Given the description of an element on the screen output the (x, y) to click on. 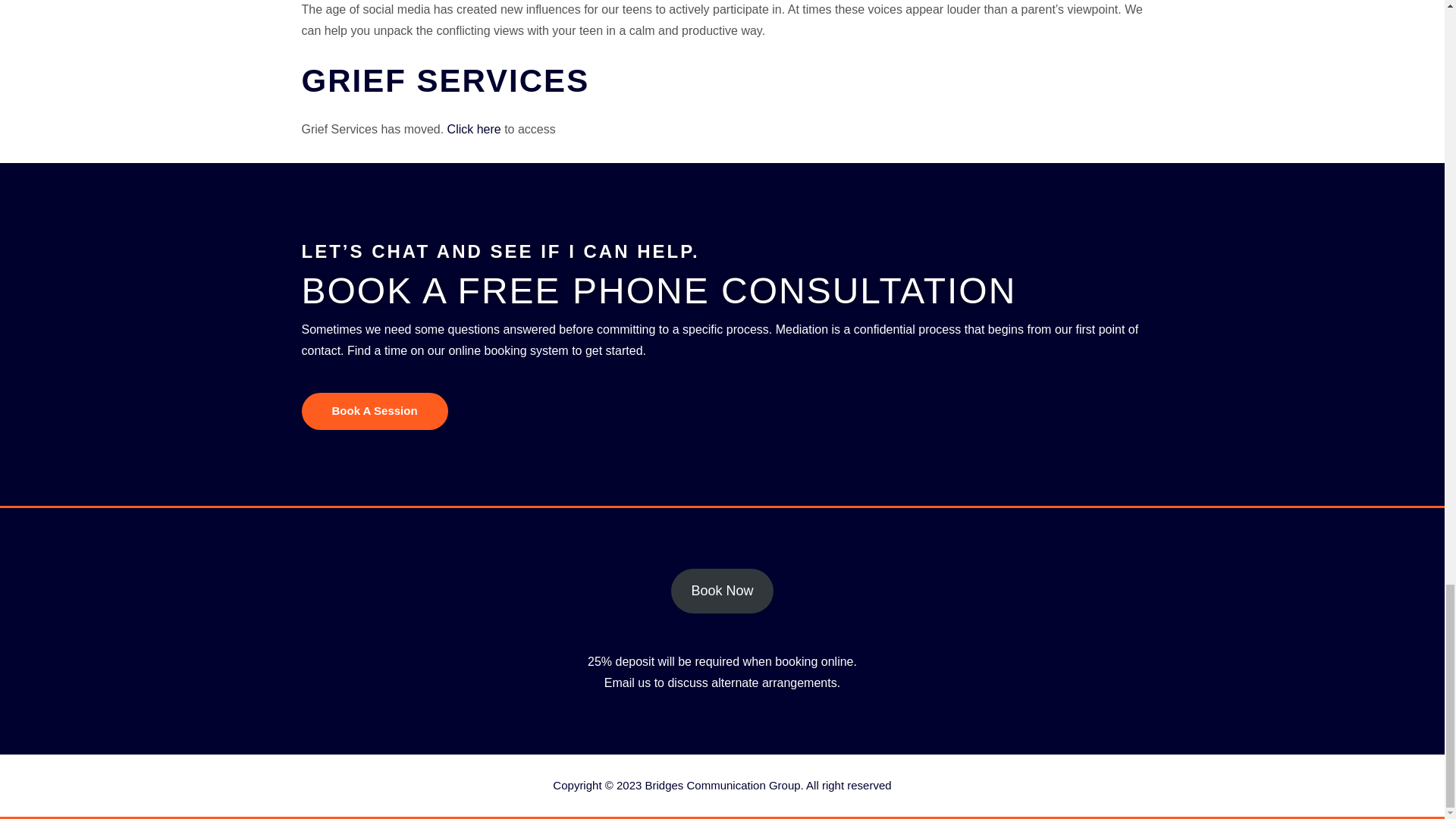
Book Now (722, 591)
Click here (473, 128)
Email us (627, 682)
Book A Session (374, 411)
Bridges Communication Group (722, 784)
